Given the description of an element on the screen output the (x, y) to click on. 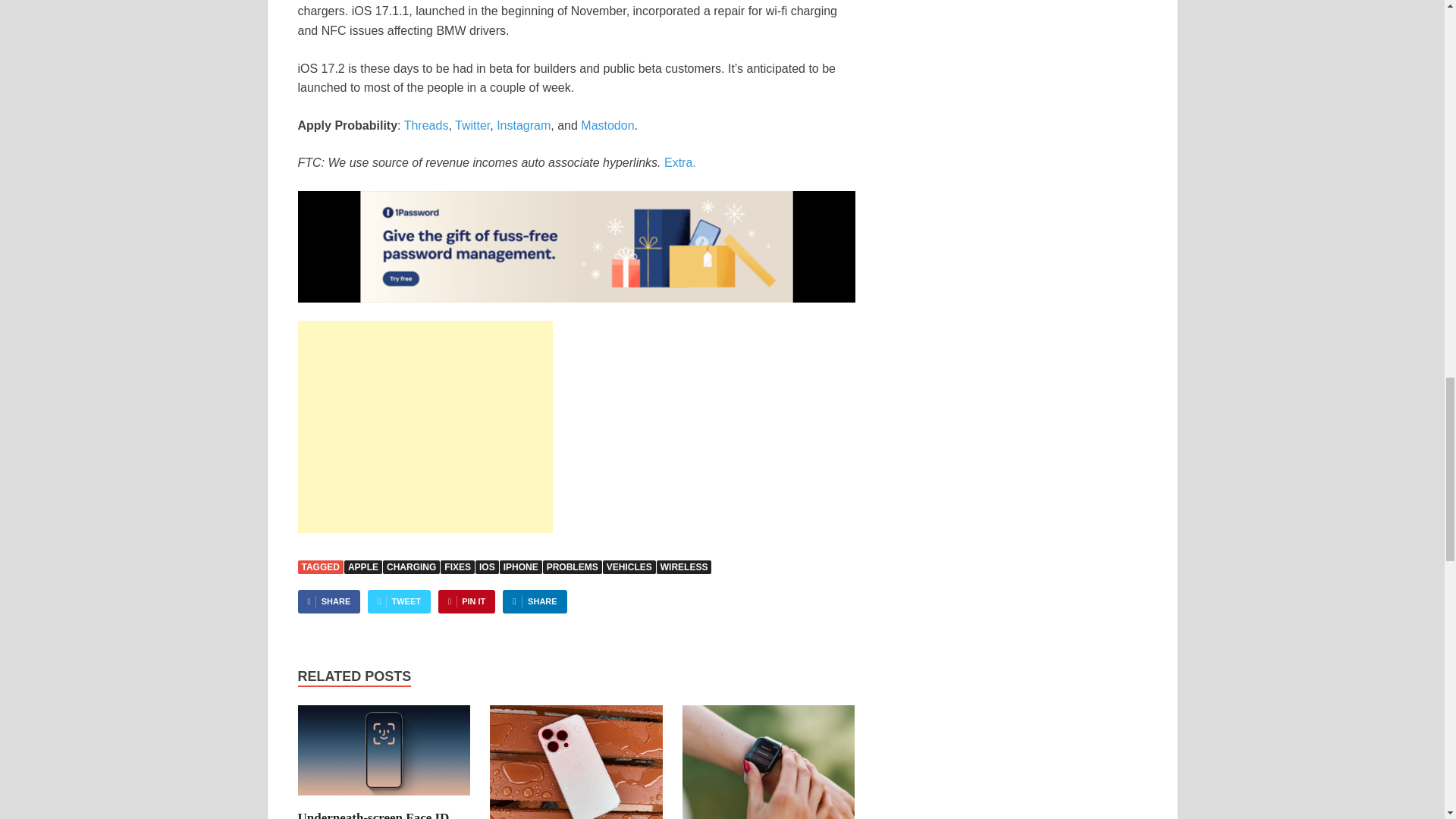
WIRELESS (683, 567)
IPHONE (520, 567)
iOS 17.2 will upload Qi2 enhance to iPhone 13 and iPhone 14 (575, 762)
APPLE (362, 567)
Threads (426, 124)
Instagram (523, 124)
Mastodon (606, 124)
Extra. (679, 162)
Twitter (471, 124)
PROBLEMS (572, 567)
CHARGING (410, 567)
FIXES (457, 567)
Advertisement (424, 427)
VEHICLES (629, 567)
IOS (487, 567)
